Given the description of an element on the screen output the (x, y) to click on. 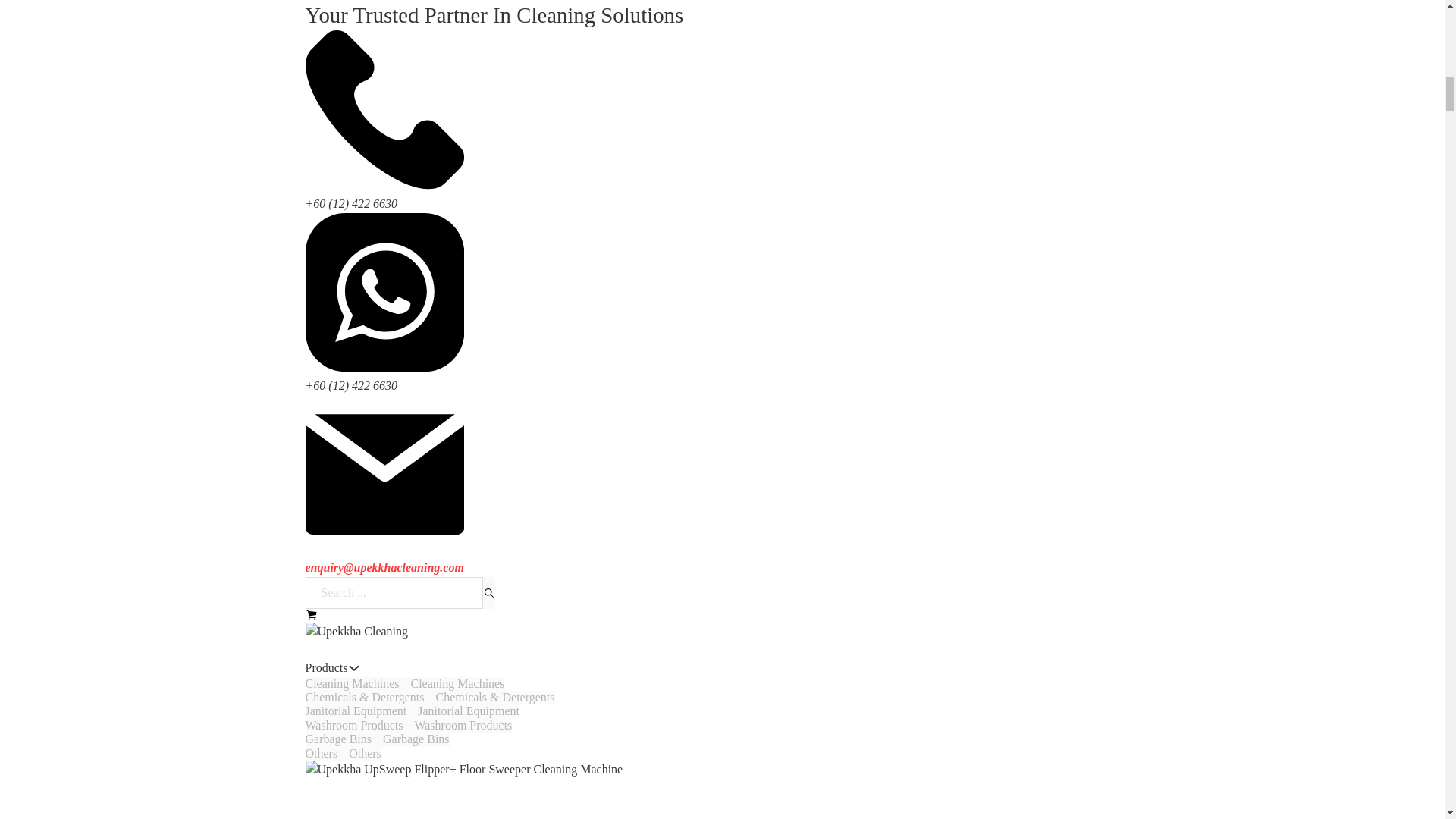
Vacuum Cleaner (344, 312)
Carpet Extractor (344, 500)
Floor Burnisher (342, 18)
Floor Blower (336, 764)
